Given the description of an element on the screen output the (x, y) to click on. 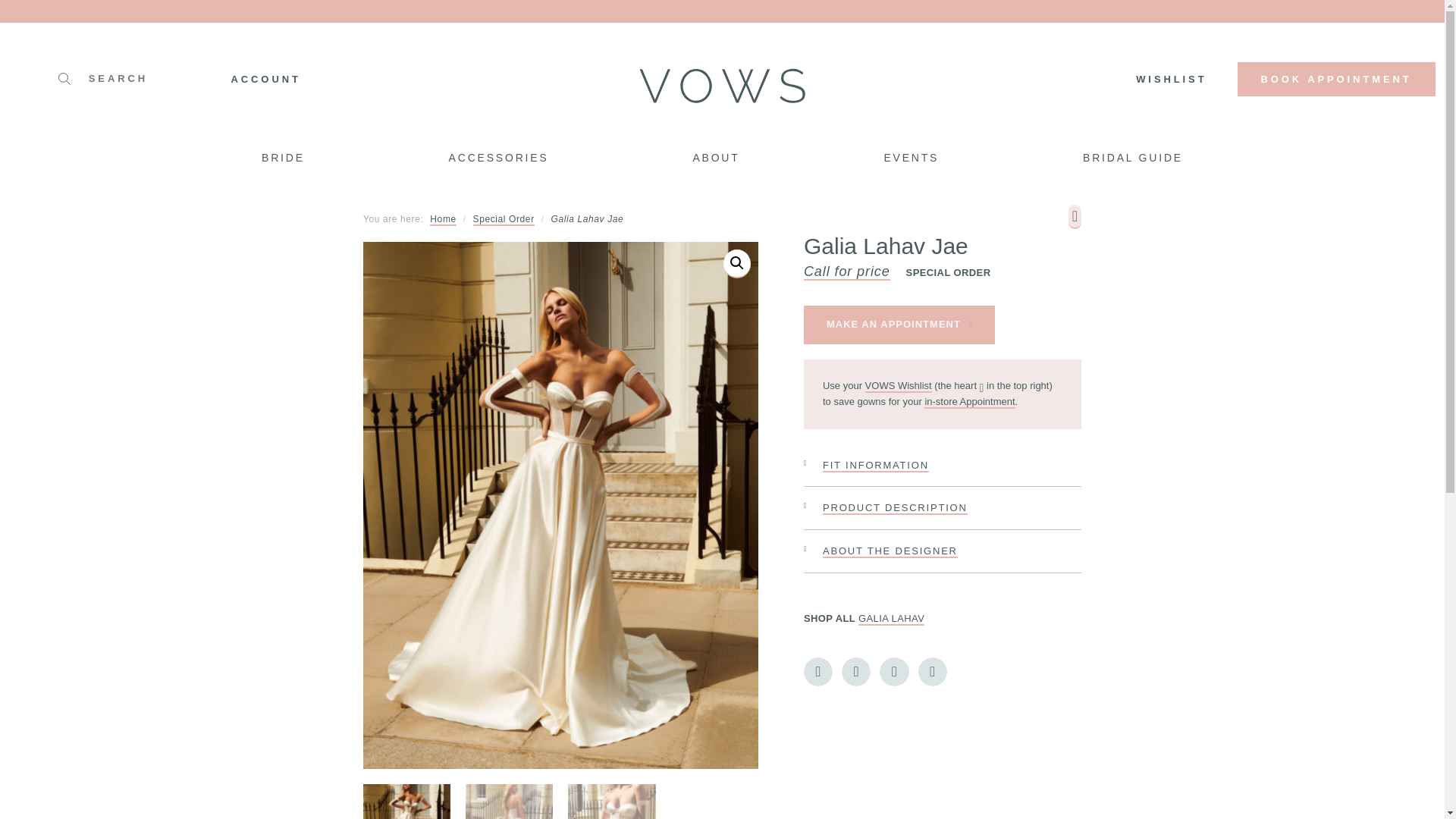
ACCESSORIES (498, 158)
BOOK APPOINTMENT (1336, 79)
BRIDE (291, 158)
WISHLIST (1171, 79)
ACCOUNT (264, 78)
ABOUT (715, 158)
